Given the description of an element on the screen output the (x, y) to click on. 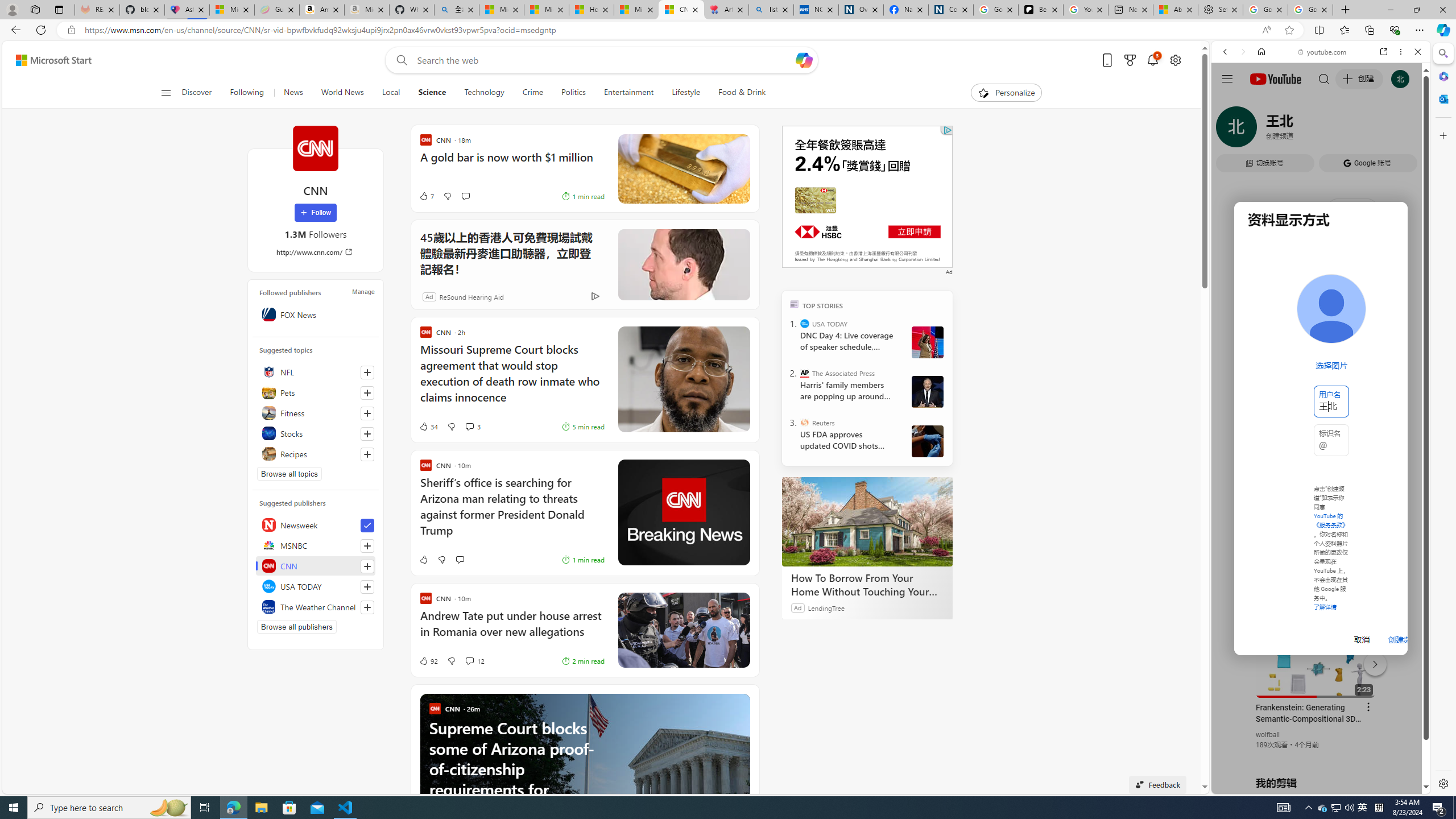
Click to scroll right (1407, 456)
Class: b_serphb (1404, 130)
Open navigation menu (164, 92)
View comments 3 Comment (469, 426)
Like (422, 559)
ReSound Hearing Aid (471, 296)
http://www.cnn.com/ (315, 251)
